Given the description of an element on the screen output the (x, y) to click on. 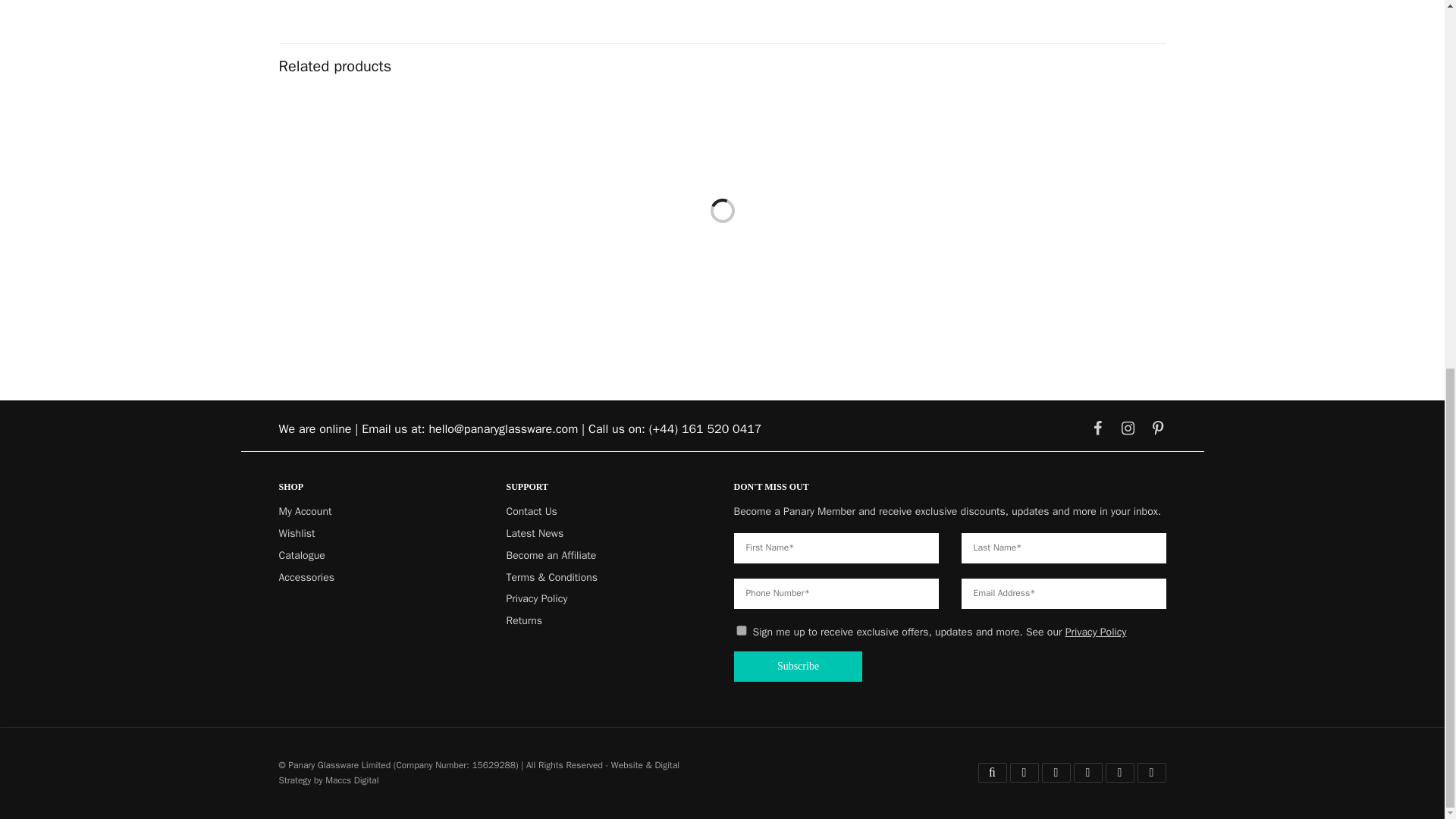
Subscribe (798, 666)
1 (1223, 180)
on (741, 630)
